Given the description of an element on the screen output the (x, y) to click on. 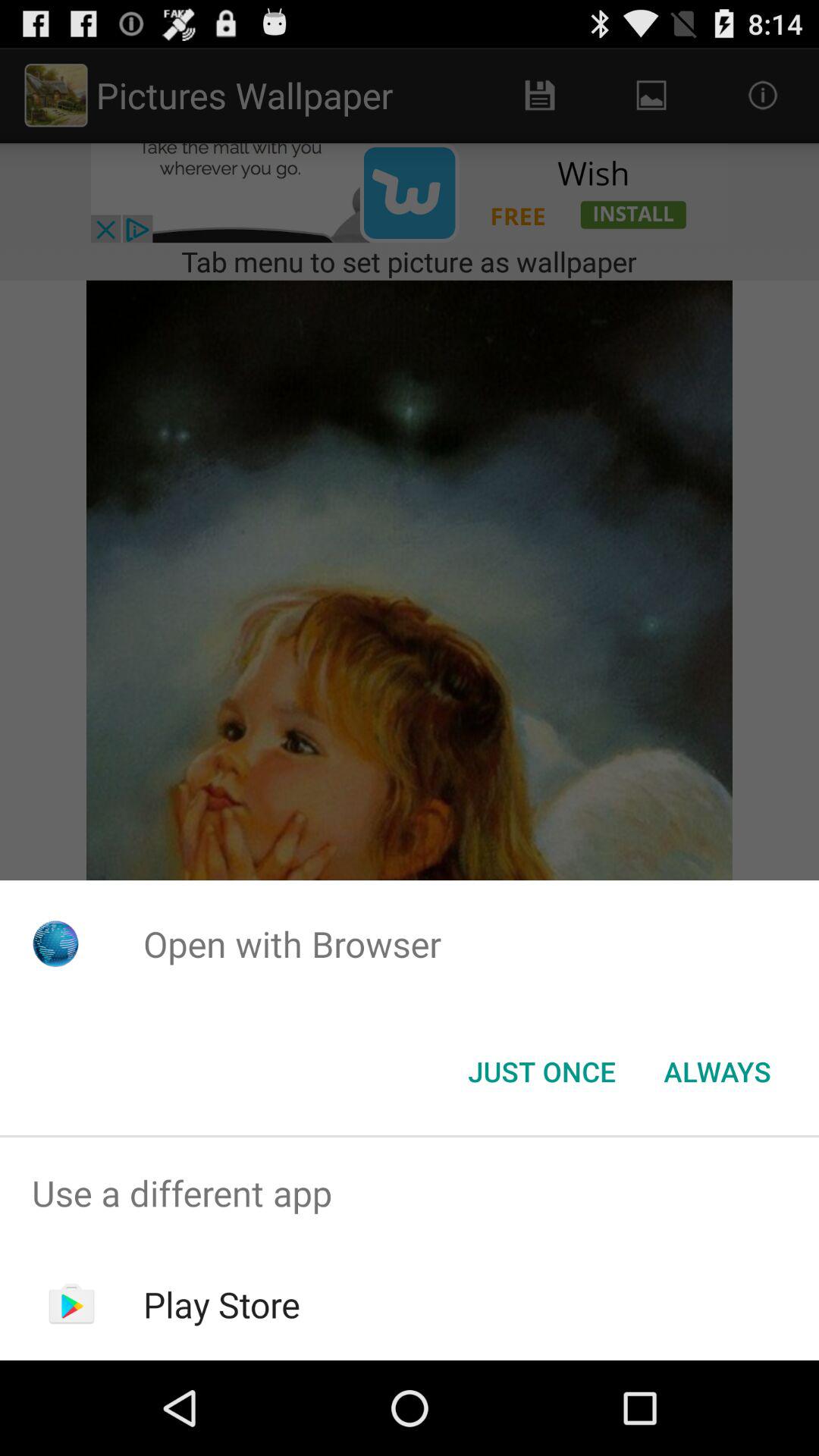
jump to the use a different app (409, 1192)
